Given the description of an element on the screen output the (x, y) to click on. 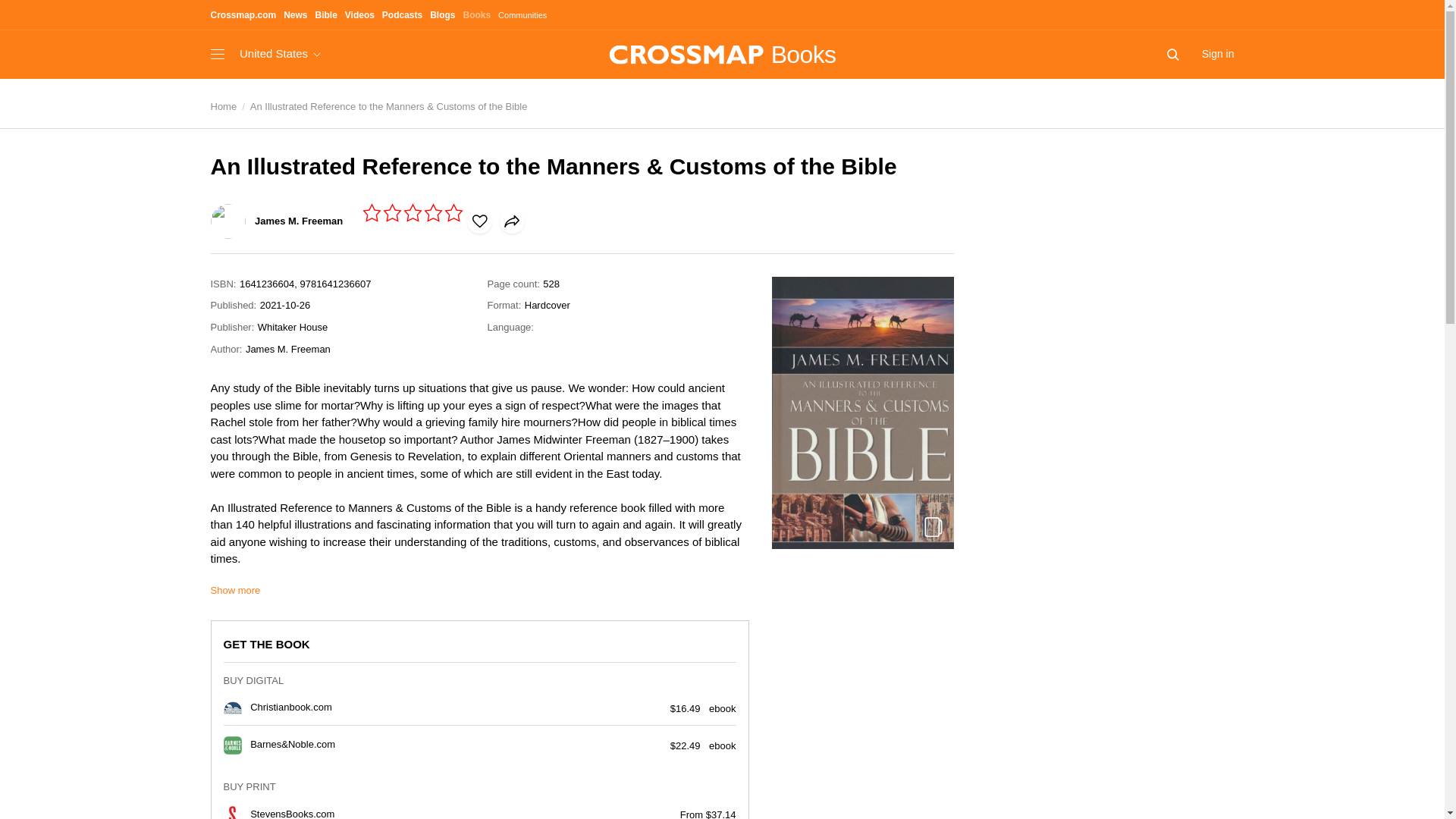
Bible (325, 16)
StevensBooks.com (292, 813)
Books (721, 54)
Blogs (441, 16)
News (295, 16)
Whitaker House (292, 327)
Books (476, 16)
Communities (522, 15)
James M. Freeman (278, 219)
Christianbook.com (290, 707)
Home (224, 106)
Videos (359, 16)
Crossmap.com (243, 14)
Podcasts (401, 16)
Sign in (1218, 54)
